Given the description of an element on the screen output the (x, y) to click on. 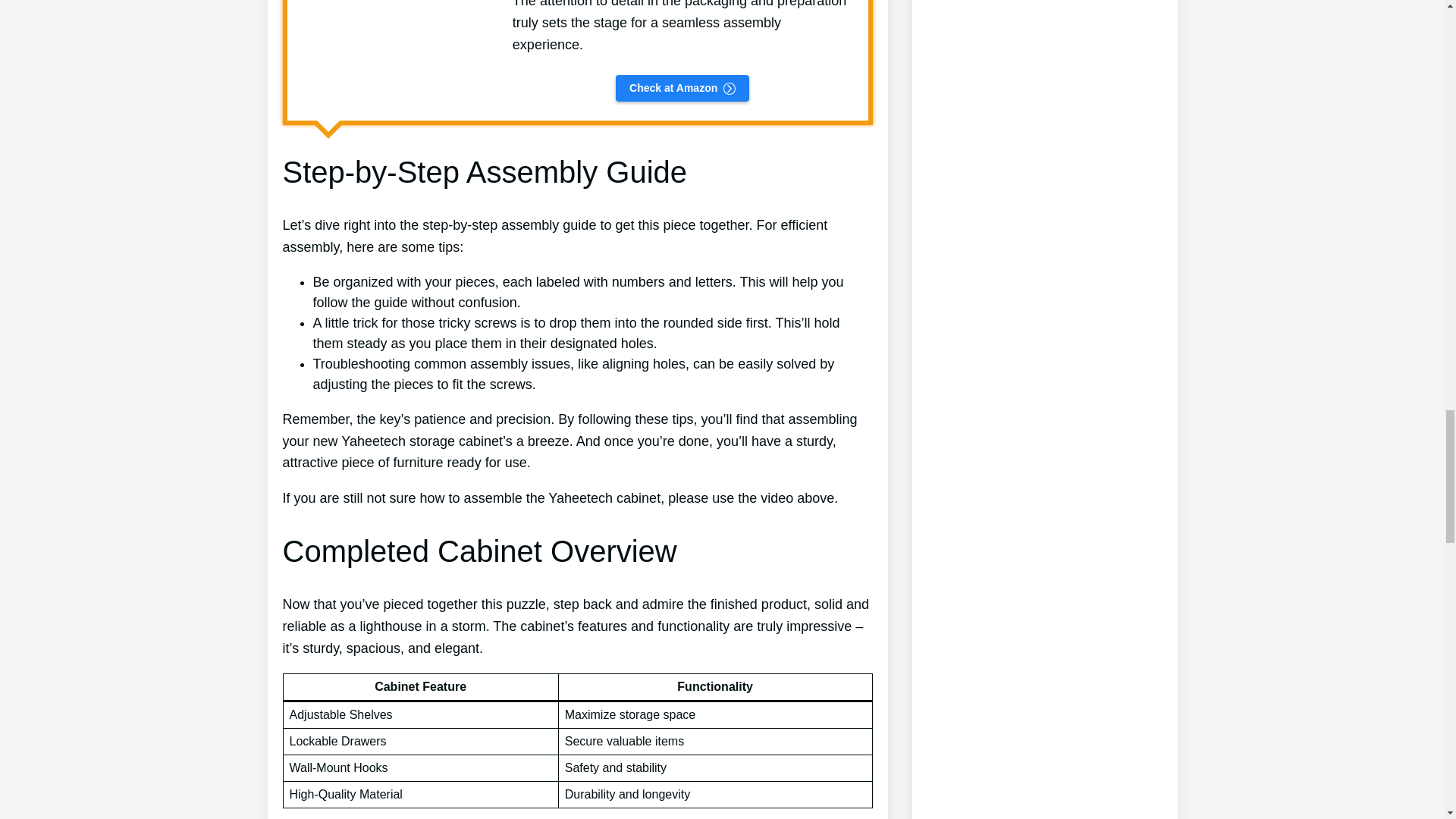
Check at Amazon (682, 88)
